Given the description of an element on the screen output the (x, y) to click on. 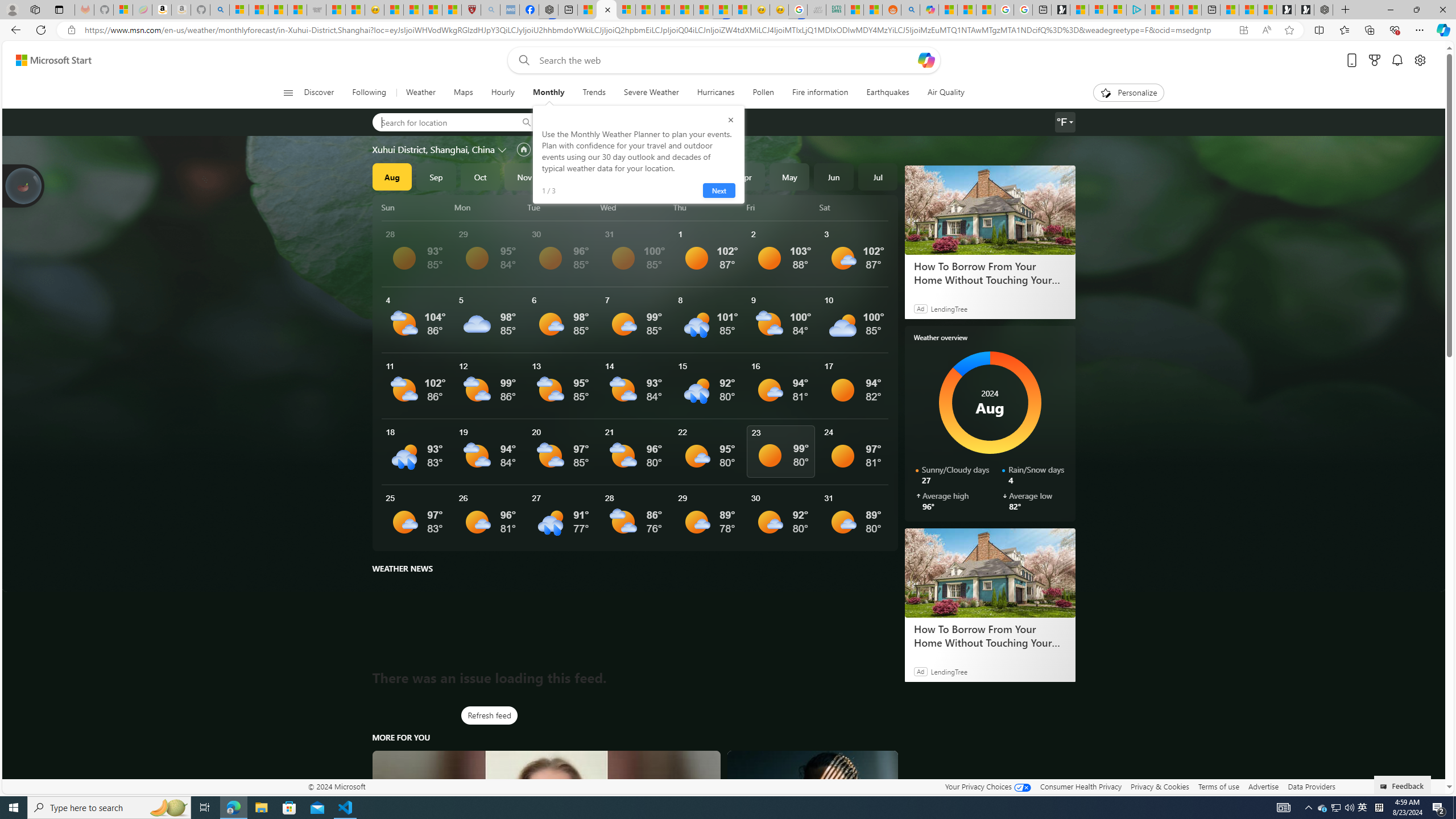
Air Quality (940, 92)
Set as primary location (522, 149)
Pollen (763, 92)
Weather settings (1064, 122)
Tue (561, 207)
Severe Weather (651, 92)
12 Popular Science Lies that Must be Corrected (450, 9)
